Given the description of an element on the screen output the (x, y) to click on. 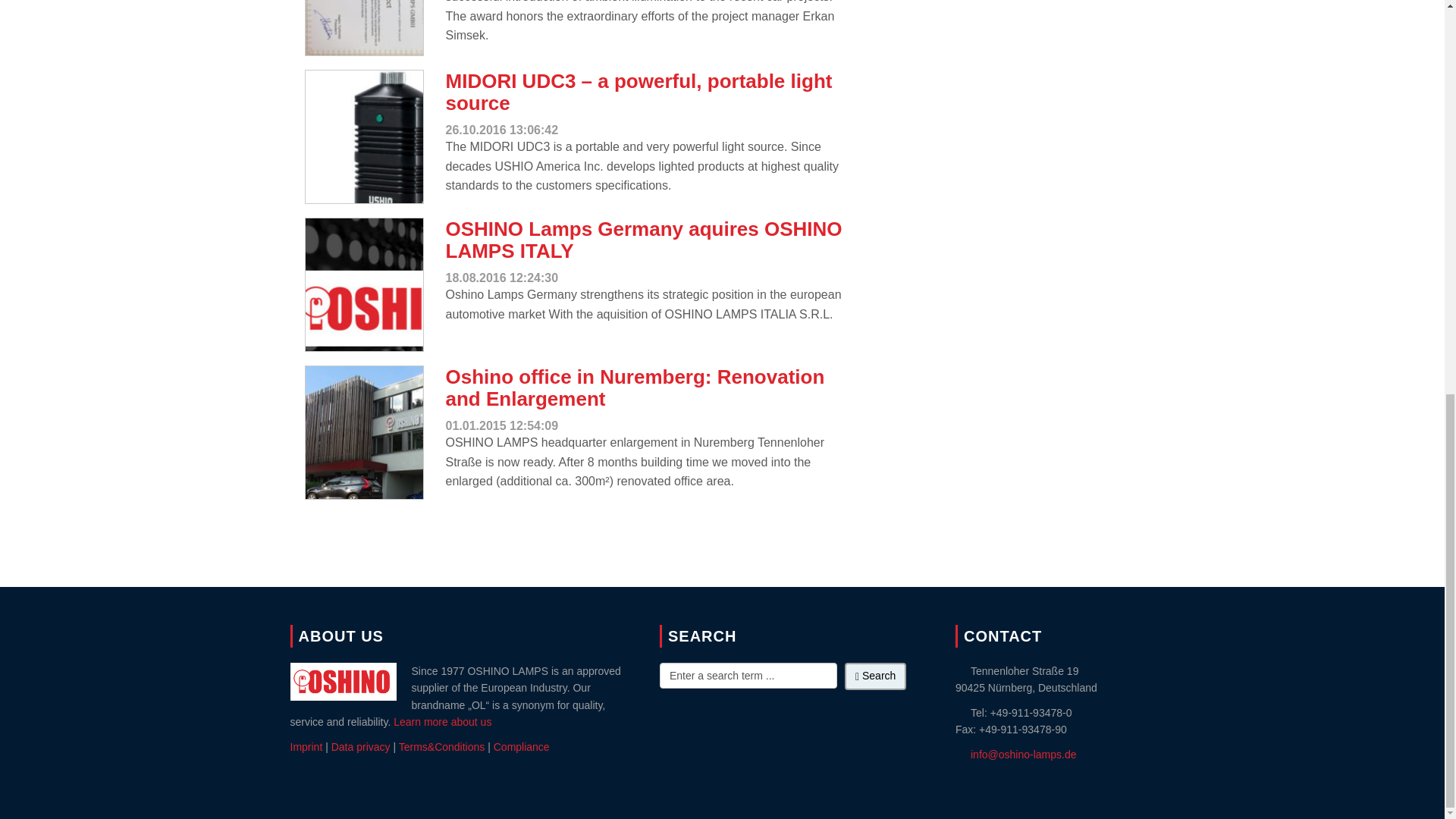
Enter a search term ... (748, 675)
